Given the description of an element on the screen output the (x, y) to click on. 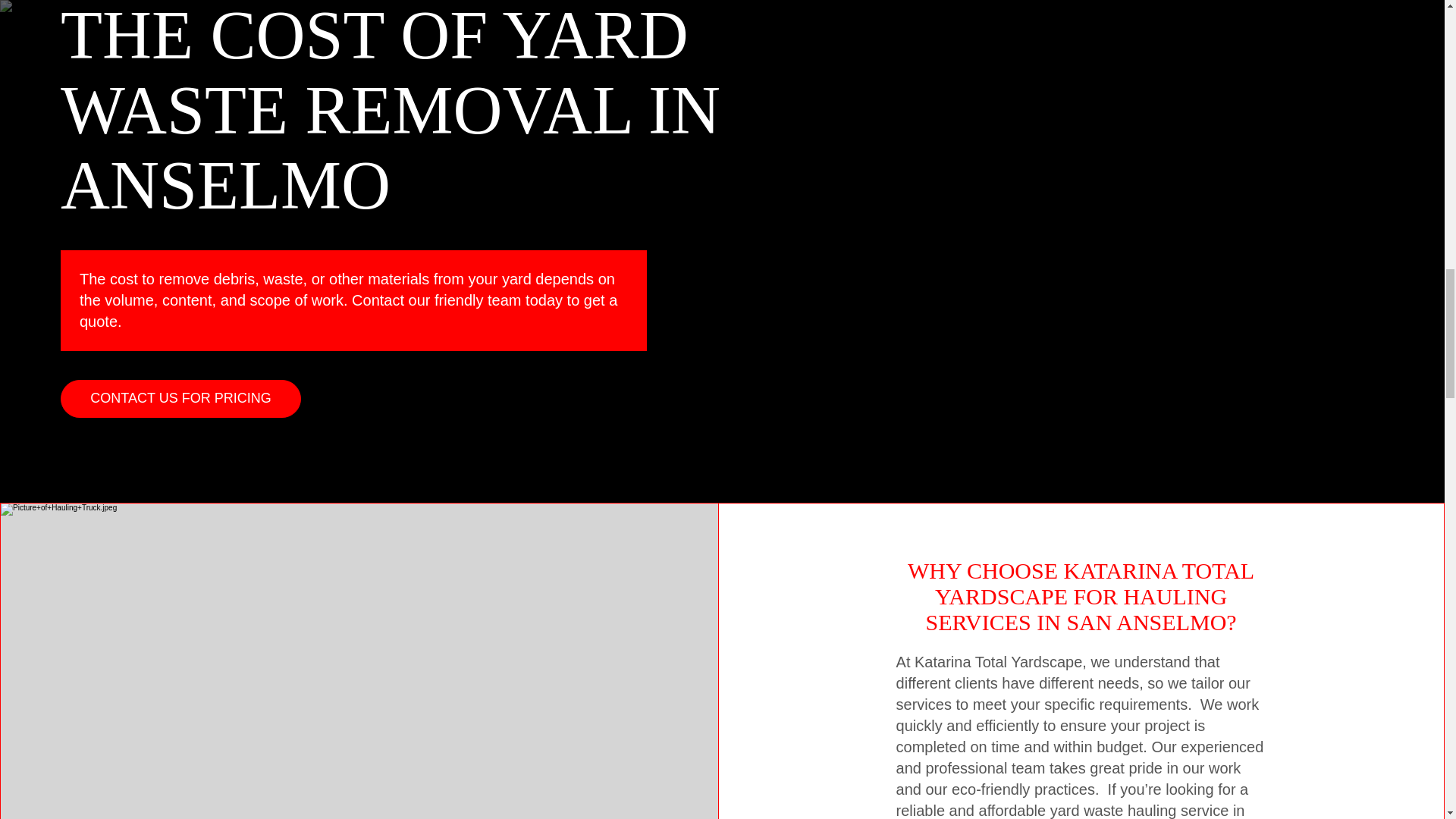
CONTACT US FOR PRICING (181, 398)
